Given the description of an element on the screen output the (x, y) to click on. 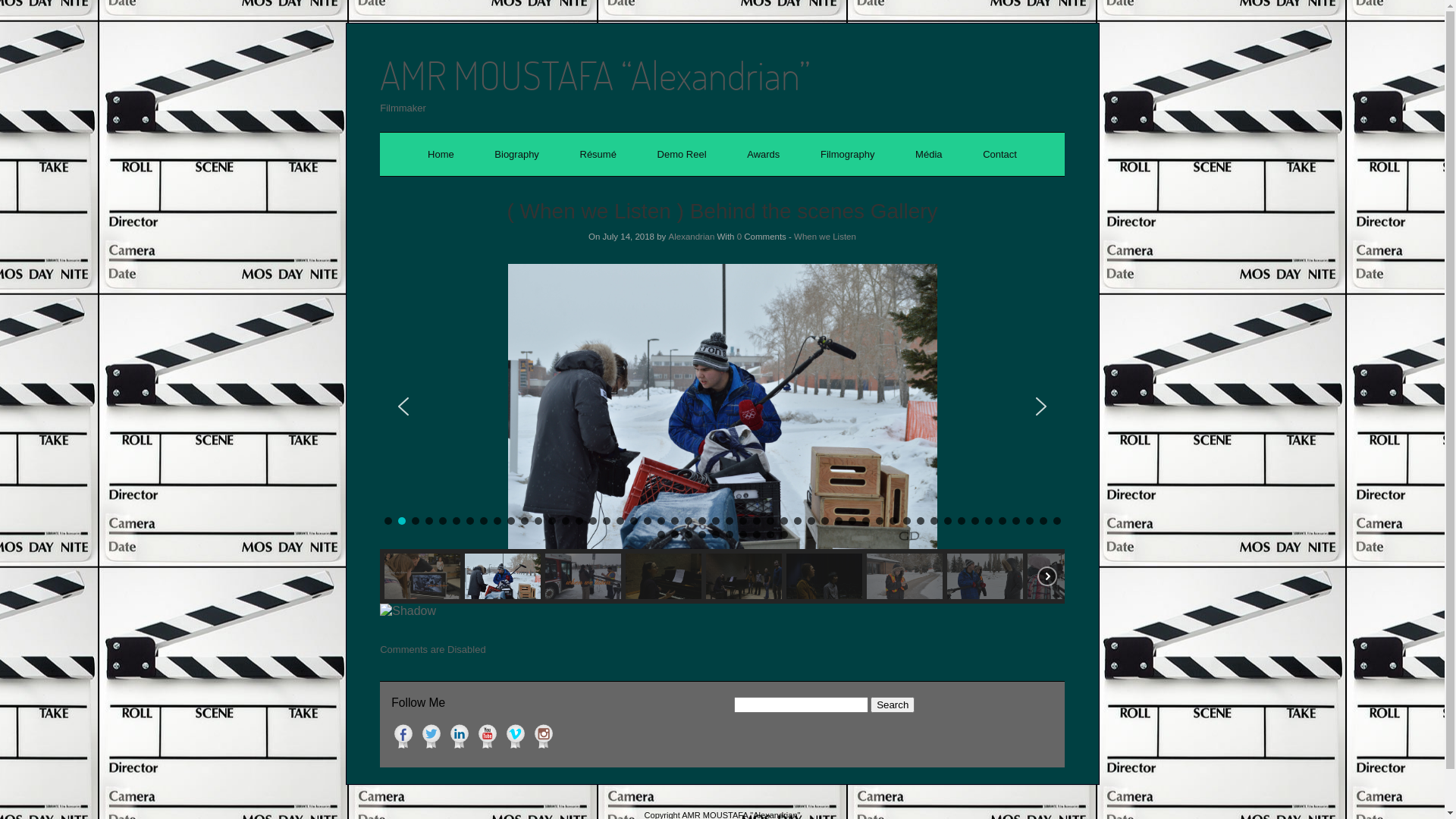
Alexandrian Element type: text (691, 236)
Find us on Linkedin Element type: hover (459, 736)
Follow us on Facebook Element type: hover (403, 736)
Check out our instagram feed Element type: hover (543, 736)
Filmography Element type: text (847, 154)
Find us on YouTube Element type: hover (487, 736)
Contact Element type: text (999, 154)
Awards Element type: text (762, 154)
Biography Element type: text (516, 154)
Home Element type: text (440, 154)
Find us on vimeo Element type: hover (515, 736)
When we Listen Element type: text (824, 236)
Demo Reel Element type: text (681, 154)
Search Element type: text (892, 704)
Follow us on Twitter Element type: hover (431, 736)
